Given the description of an element on the screen output the (x, y) to click on. 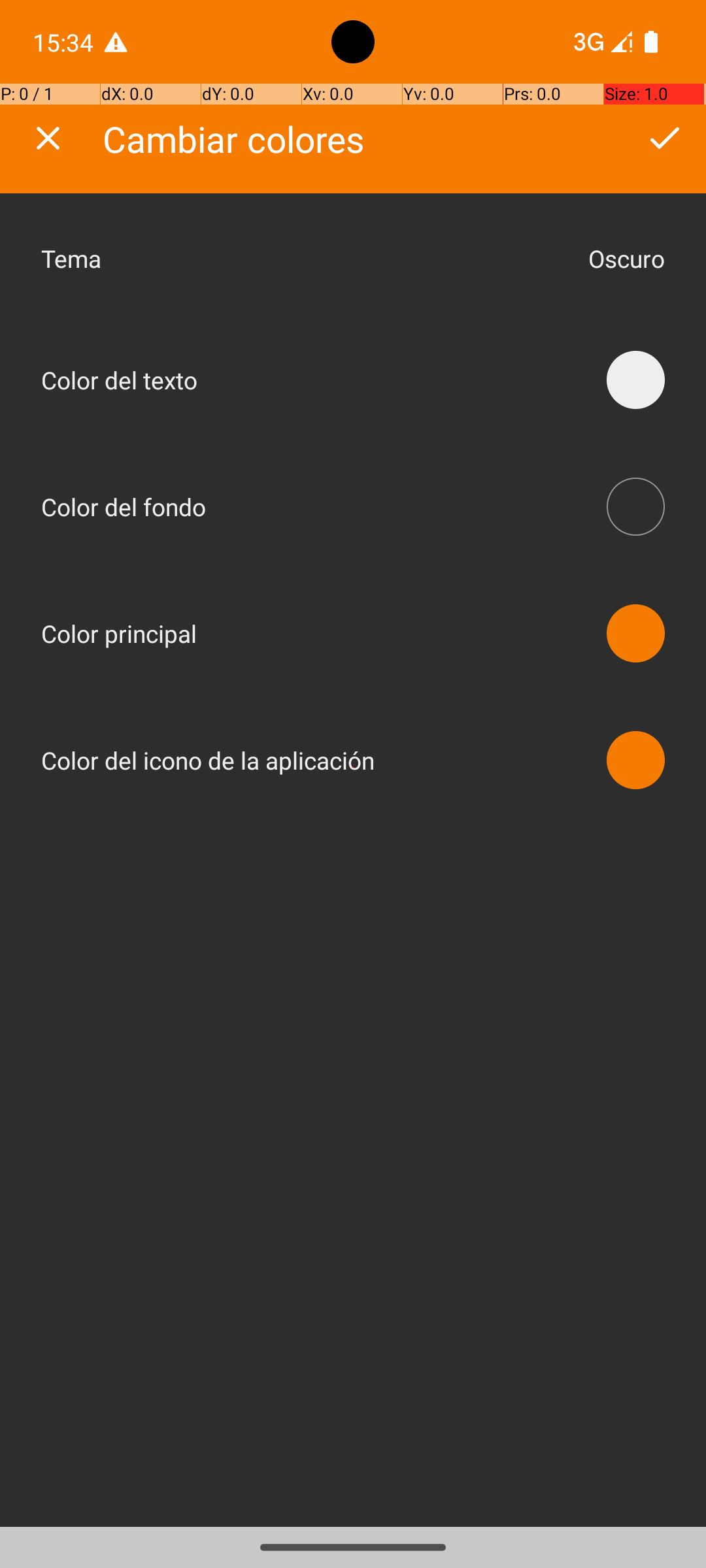
Cambiar colores Element type: android.widget.TextView (233, 138)
Guardar Element type: android.widget.Button (664, 137)
Tema Element type: android.widget.TextView (307, 258)
Oscuro Element type: android.widget.TextView (626, 258)
Color del texto Element type: android.widget.TextView (119, 379)
Color del fondo Element type: android.widget.TextView (123, 506)
Color principal Element type: android.widget.TextView (118, 633)
Color del icono de la aplicación Element type: android.widget.TextView (207, 759)
